Given the description of an element on the screen output the (x, y) to click on. 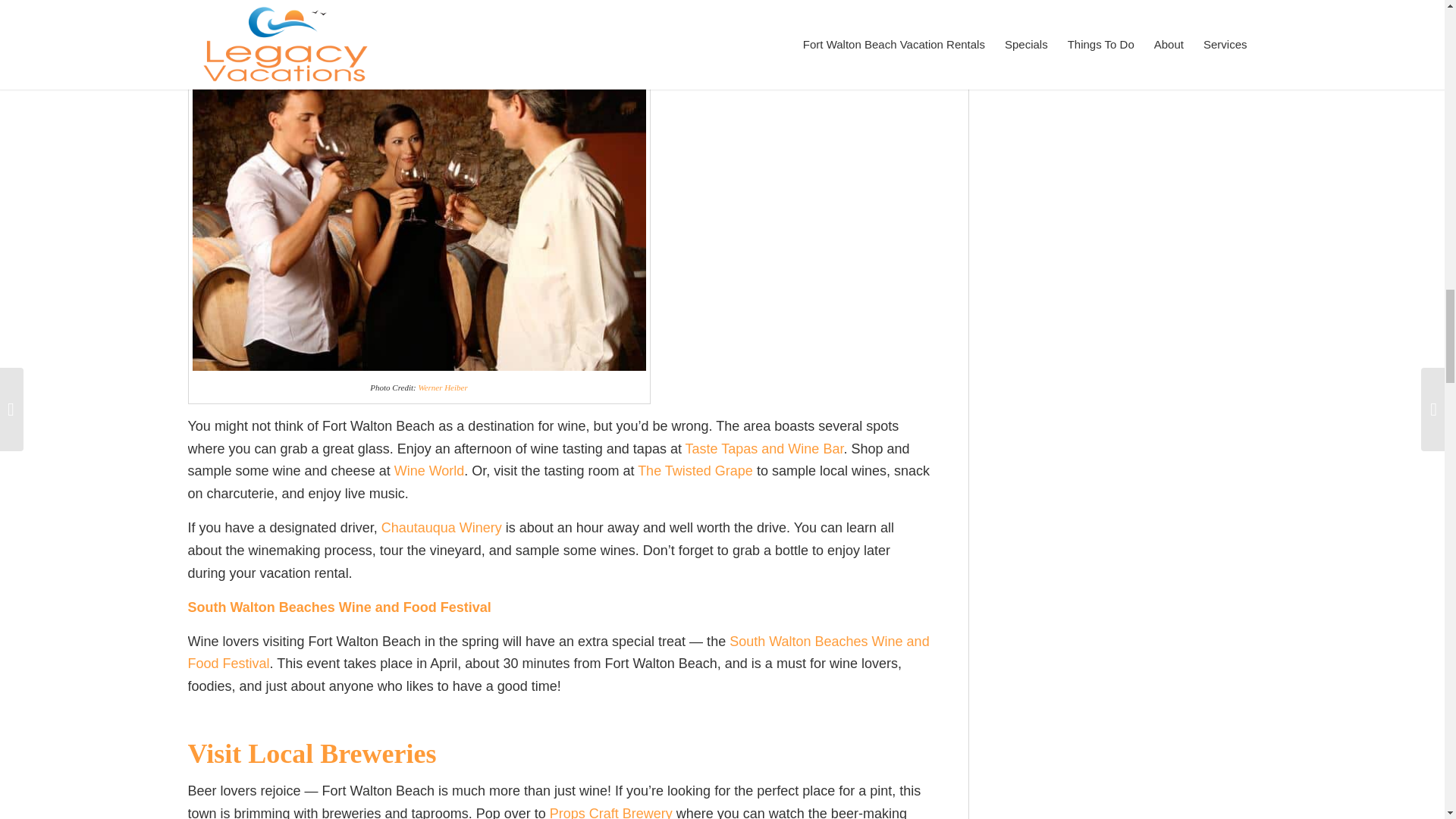
Wine World (429, 470)
Taste Tapas and Wine Bar (764, 448)
The Twisted Grape (694, 470)
Props Craft Brewery (611, 812)
South Walton Beaches Wine and Food Festival (558, 652)
Werner Heiber (442, 387)
Chautauqua Winery (441, 527)
